Given the description of an element on the screen output the (x, y) to click on. 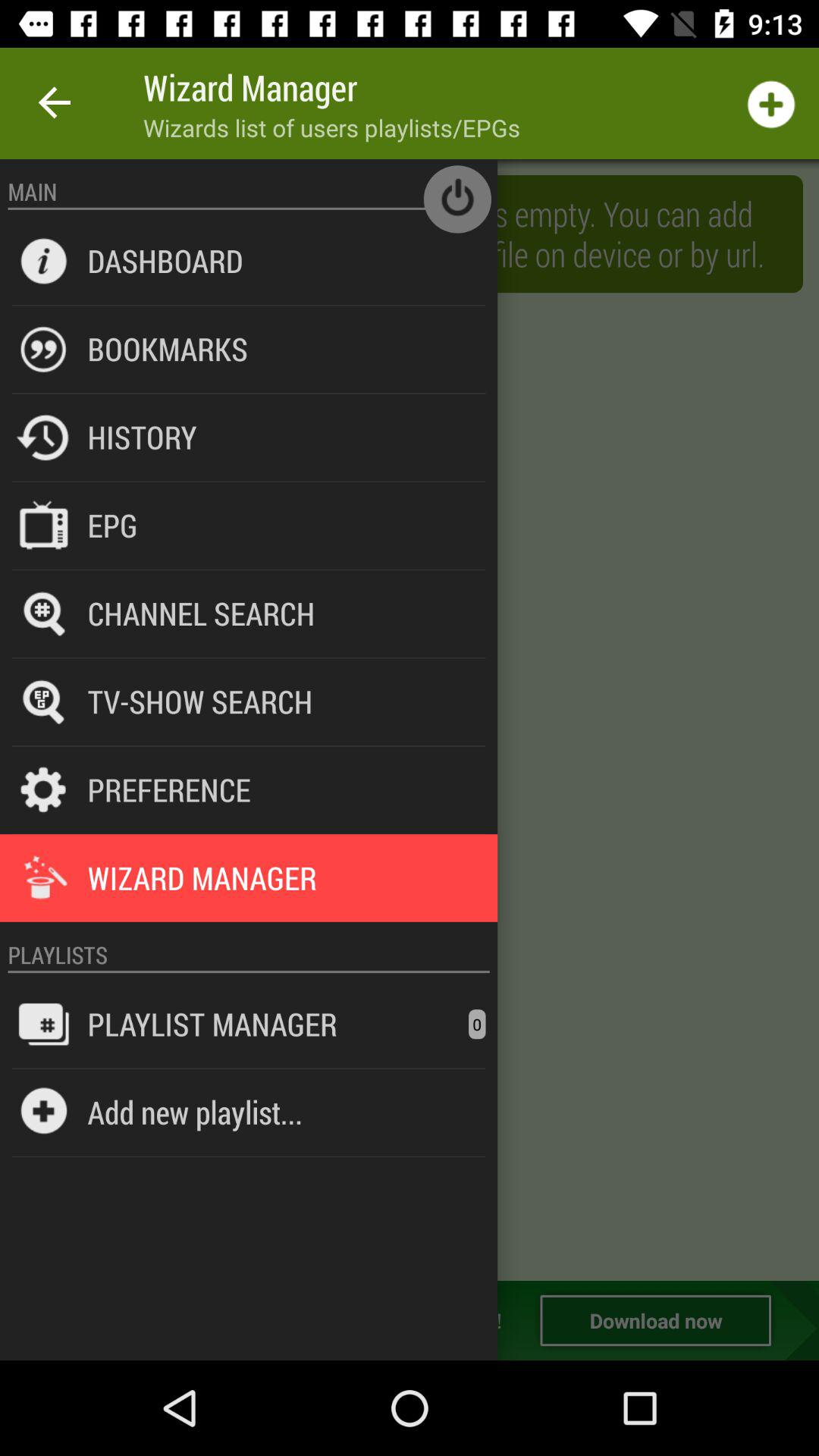
turn off the item next to the 0 item (212, 1023)
